Given the description of an element on the screen output the (x, y) to click on. 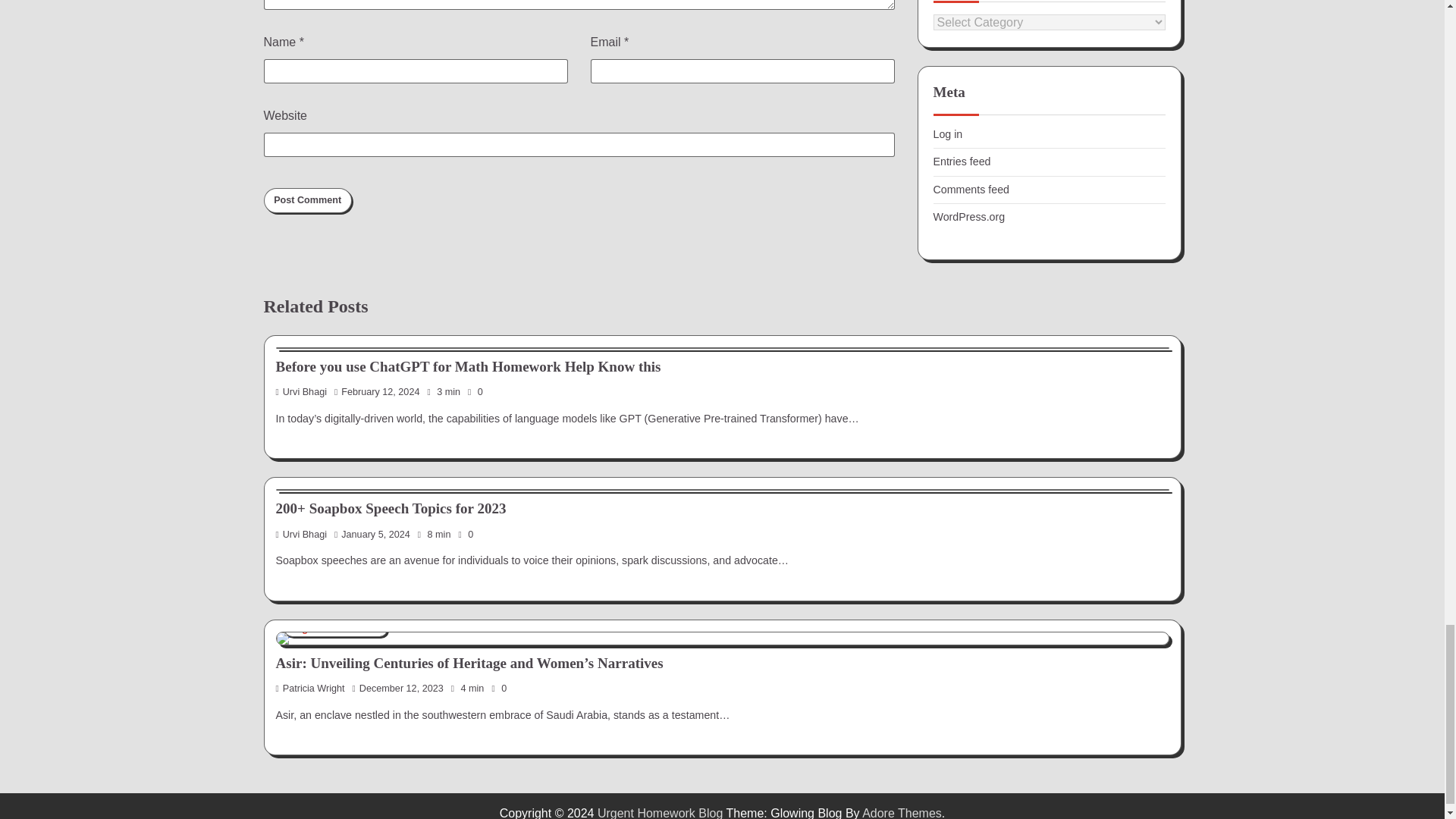
Before you use ChatGPT for Math Homework Help Know this (468, 366)
Urgent Homework (335, 628)
Urvi Bhagi (301, 534)
Post Comment (307, 200)
Urvi Bhagi (301, 391)
Post Comment (307, 200)
